Given the description of an element on the screen output the (x, y) to click on. 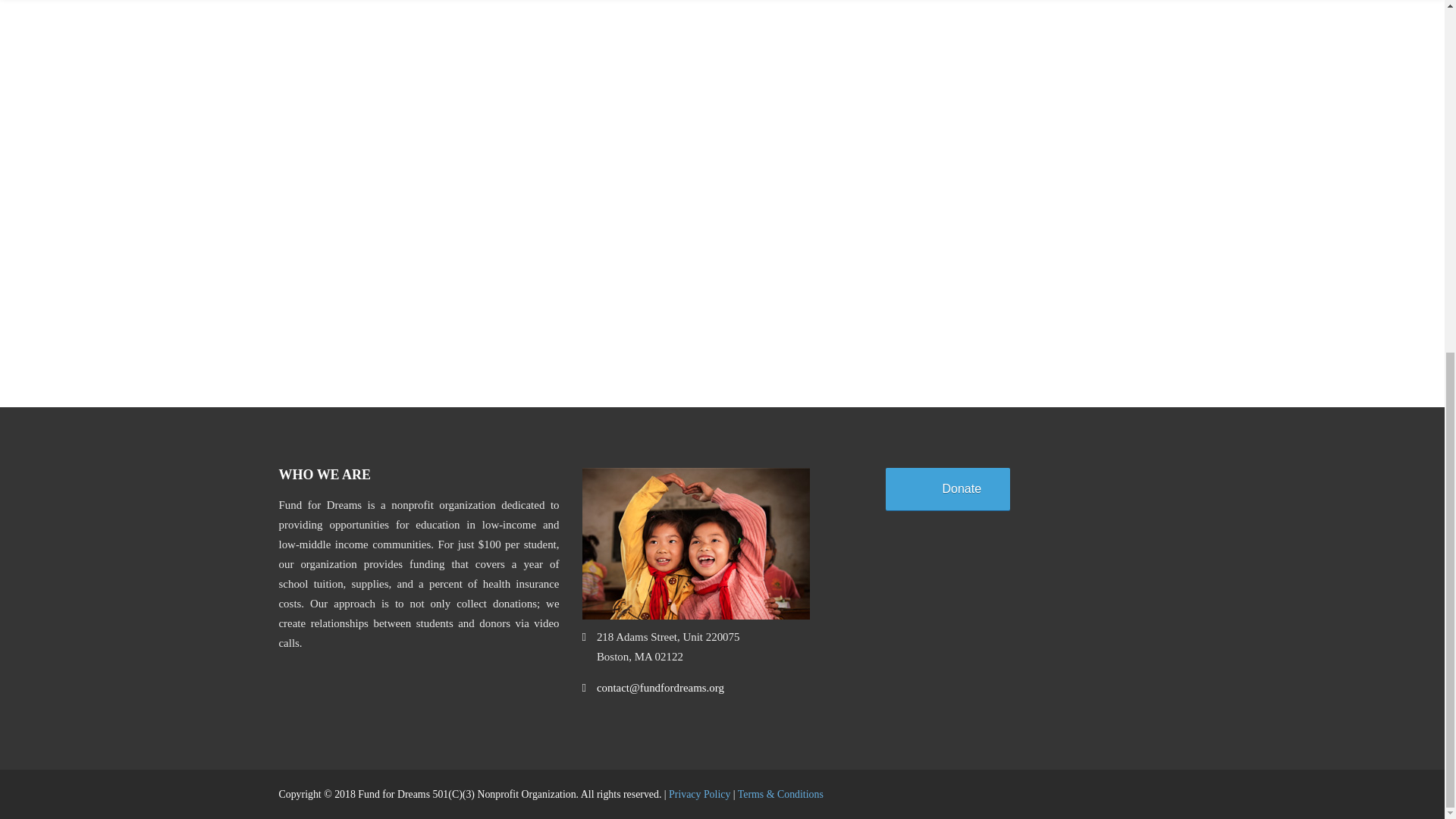
Privacy Policy (699, 794)
fund-for-dreams-960x540 (695, 543)
Donate (947, 488)
